Given the description of an element on the screen output the (x, y) to click on. 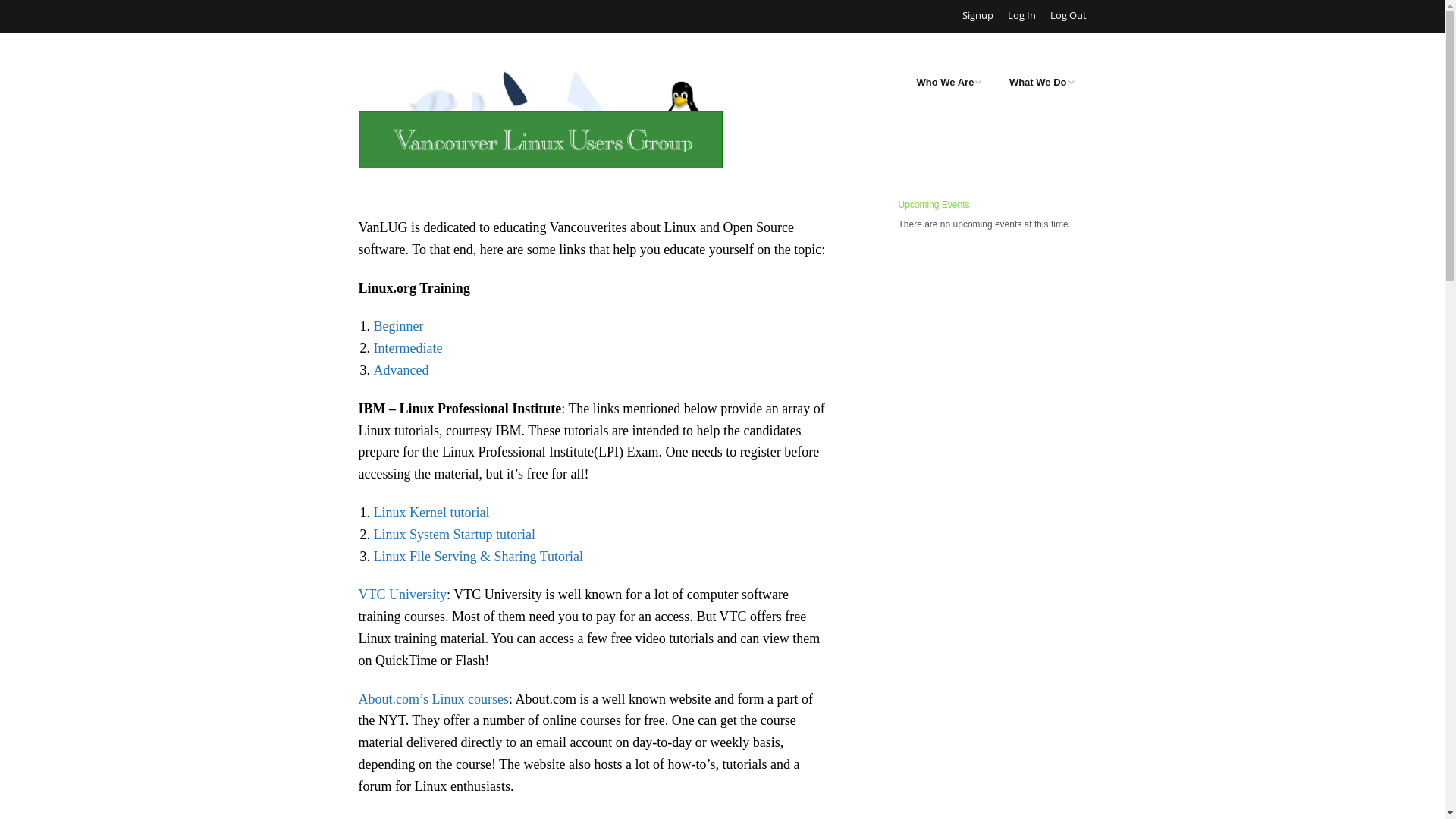
Who We Are Element type: text (949, 82)
Linux File Serving & Sharing Tutorial Element type: text (478, 556)
Log Out Element type: text (1067, 14)
VTC University Element type: text (401, 594)
Linux System Startup tutorial Element type: text (454, 534)
Intermediate Element type: text (407, 347)
What We Do Element type: text (1041, 82)
Log In Element type: text (1021, 14)
Beginner Element type: text (398, 325)
Linux Kernel tutorial Element type: text (431, 512)
Advanced Element type: text (400, 369)
Signup Element type: text (976, 14)
